Given the description of an element on the screen output the (x, y) to click on. 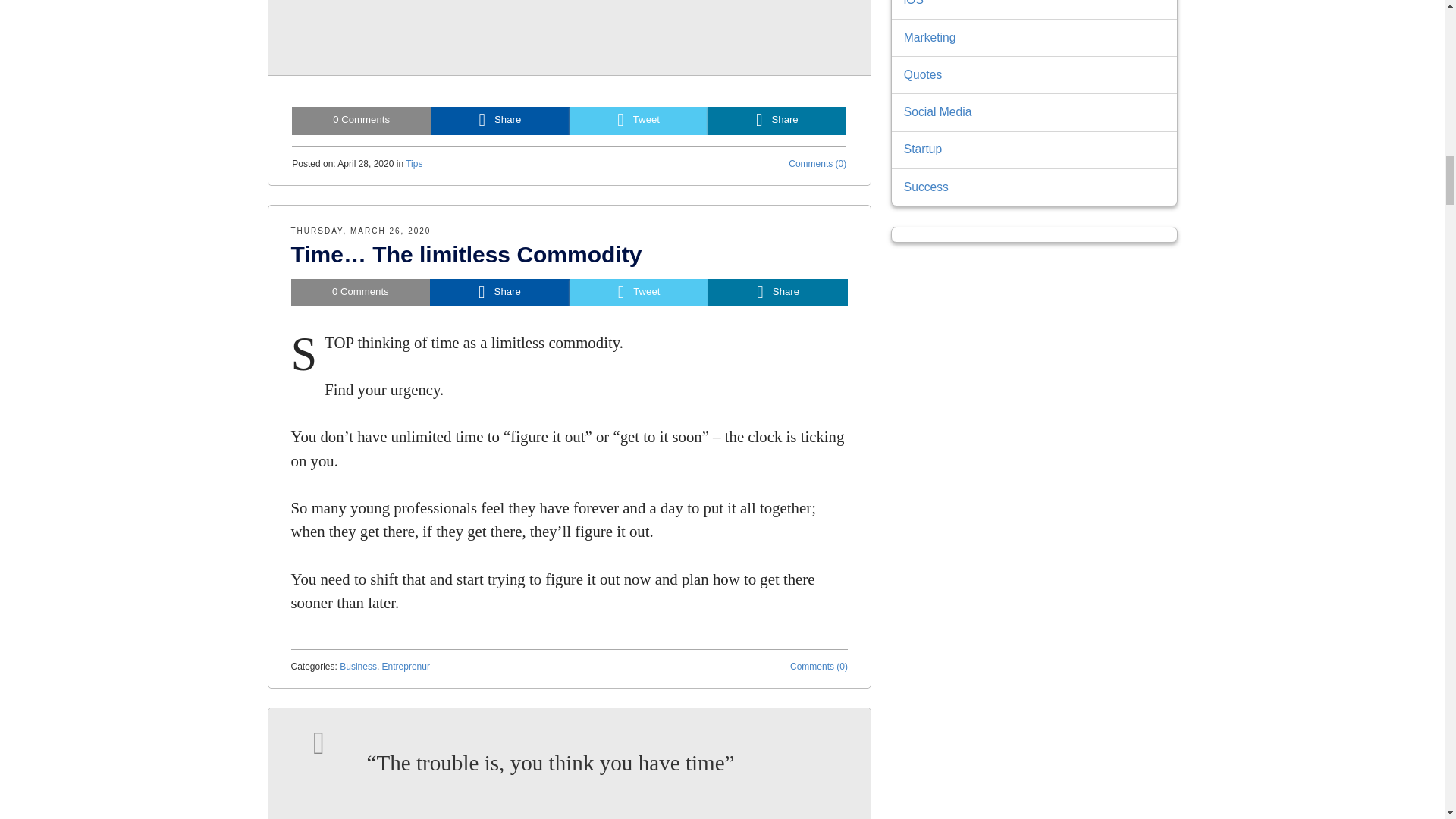
0 Comments (360, 293)
0 Comments (361, 121)
Tweet (639, 293)
Share on LinkedIn (776, 121)
Comment on this Post (361, 121)
Share on Facebook (499, 121)
Tips (414, 163)
Tweet (638, 121)
Share (776, 121)
Comment on this Post (360, 293)
Share (499, 293)
Tweet this Post (638, 121)
Share (499, 121)
